Given the description of an element on the screen output the (x, y) to click on. 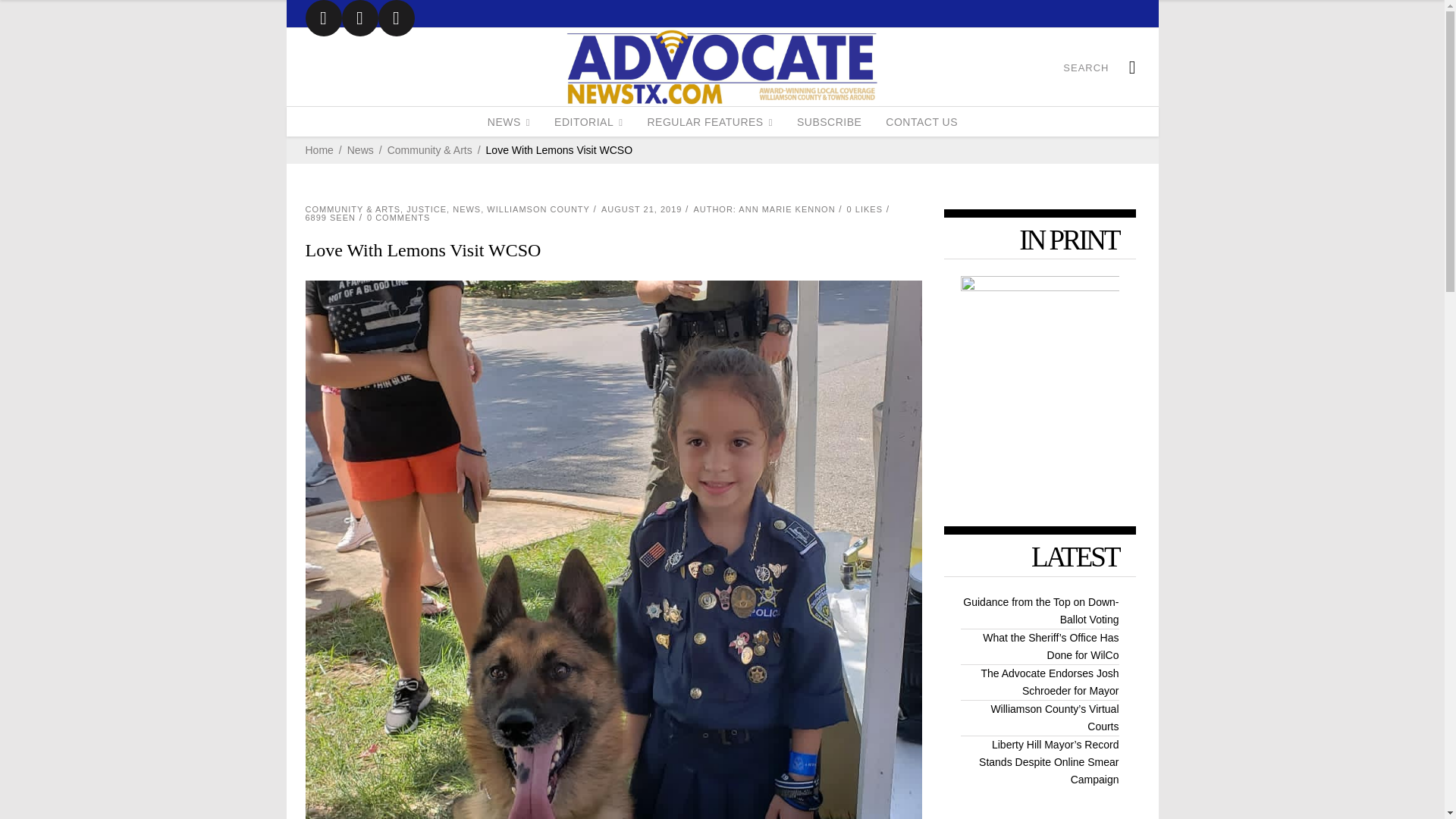
EDITORIAL (587, 121)
CONTACT US (921, 121)
NEWS (508, 121)
SUBSCRIBE (828, 121)
REGULAR FEATURES (709, 121)
